Given the description of an element on the screen output the (x, y) to click on. 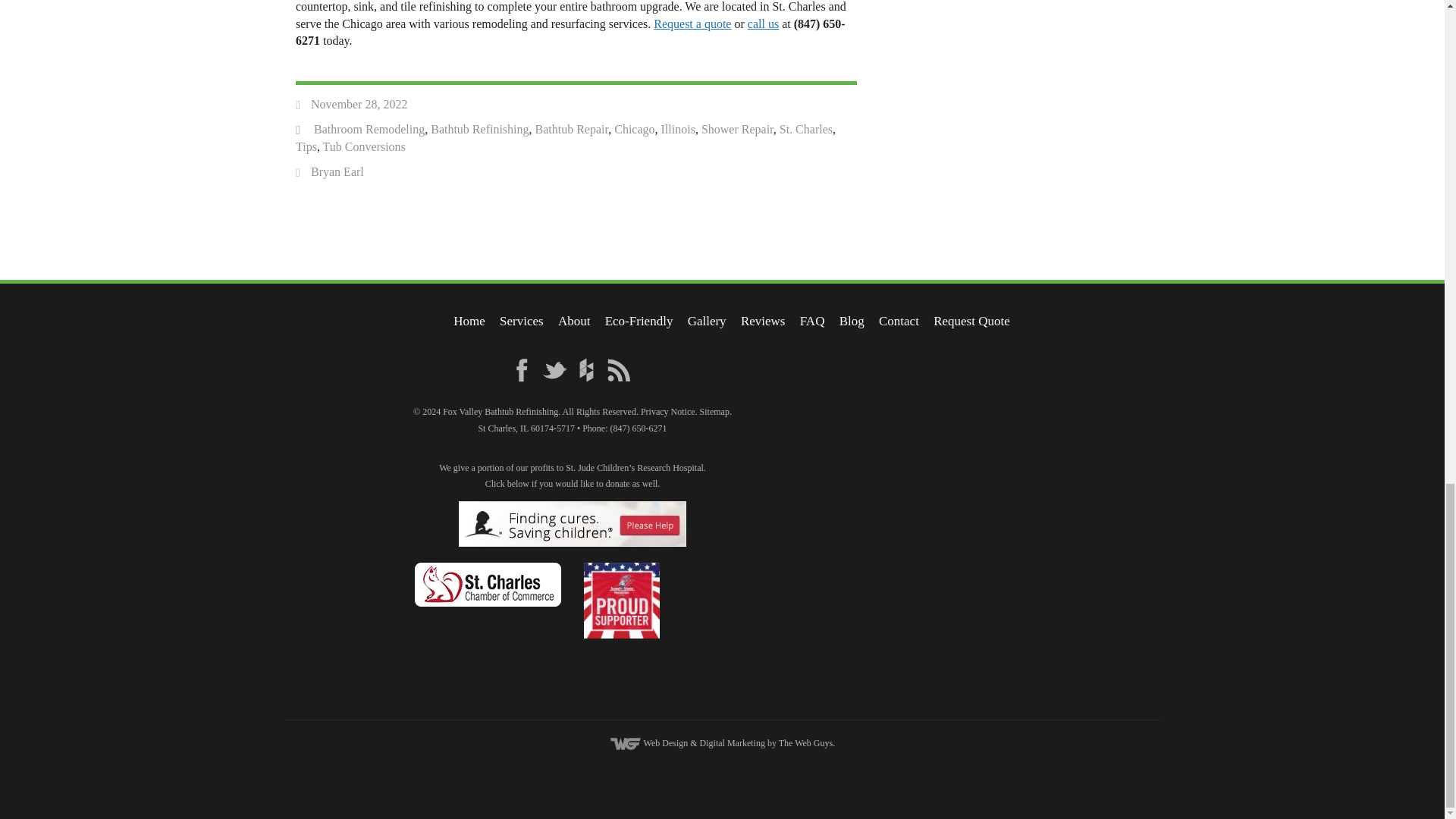
View all posts by Bryan Earl (337, 171)
